Given the description of an element on the screen output the (x, y) to click on. 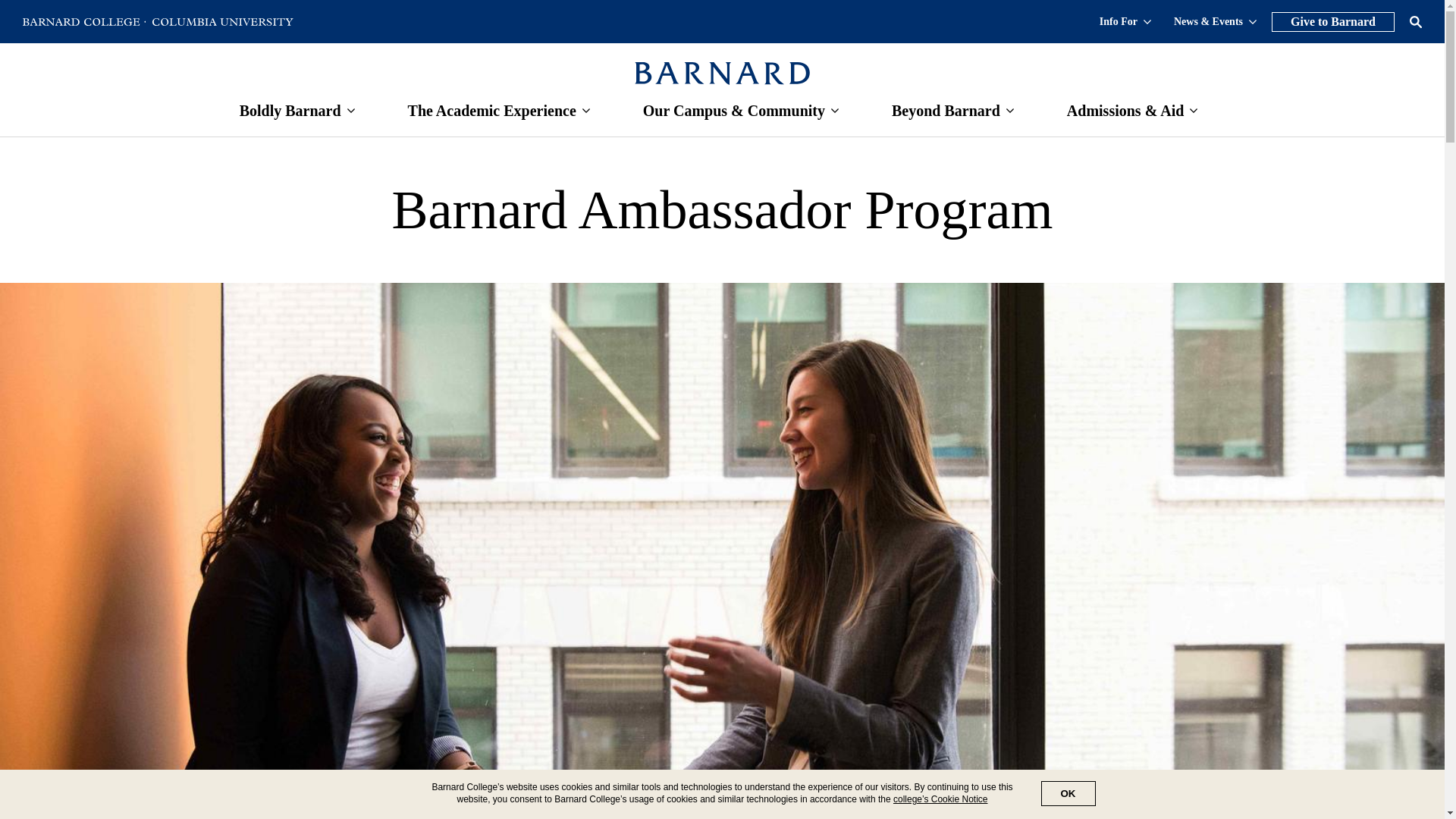
Academics and Curriculum (491, 110)
Applying for admissions and financial aid (1126, 110)
About Barnard (290, 110)
Info For (1125, 20)
Boldly Barnard (290, 110)
Campus Life (734, 110)
Give to Barnard (1332, 21)
